Given the description of an element on the screen output the (x, y) to click on. 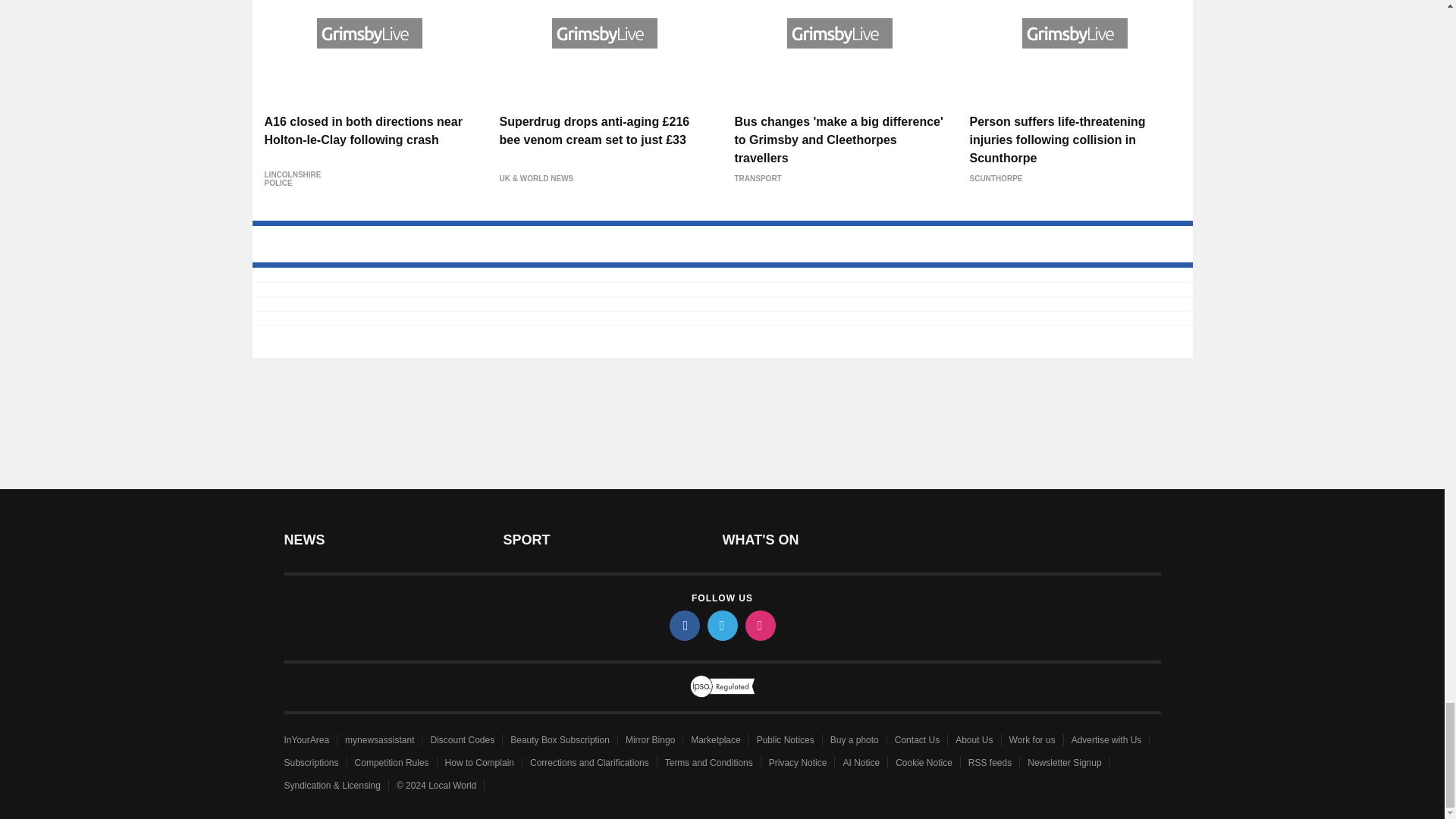
facebook (683, 625)
twitter (721, 625)
instagram (759, 625)
